Given the description of an element on the screen output the (x, y) to click on. 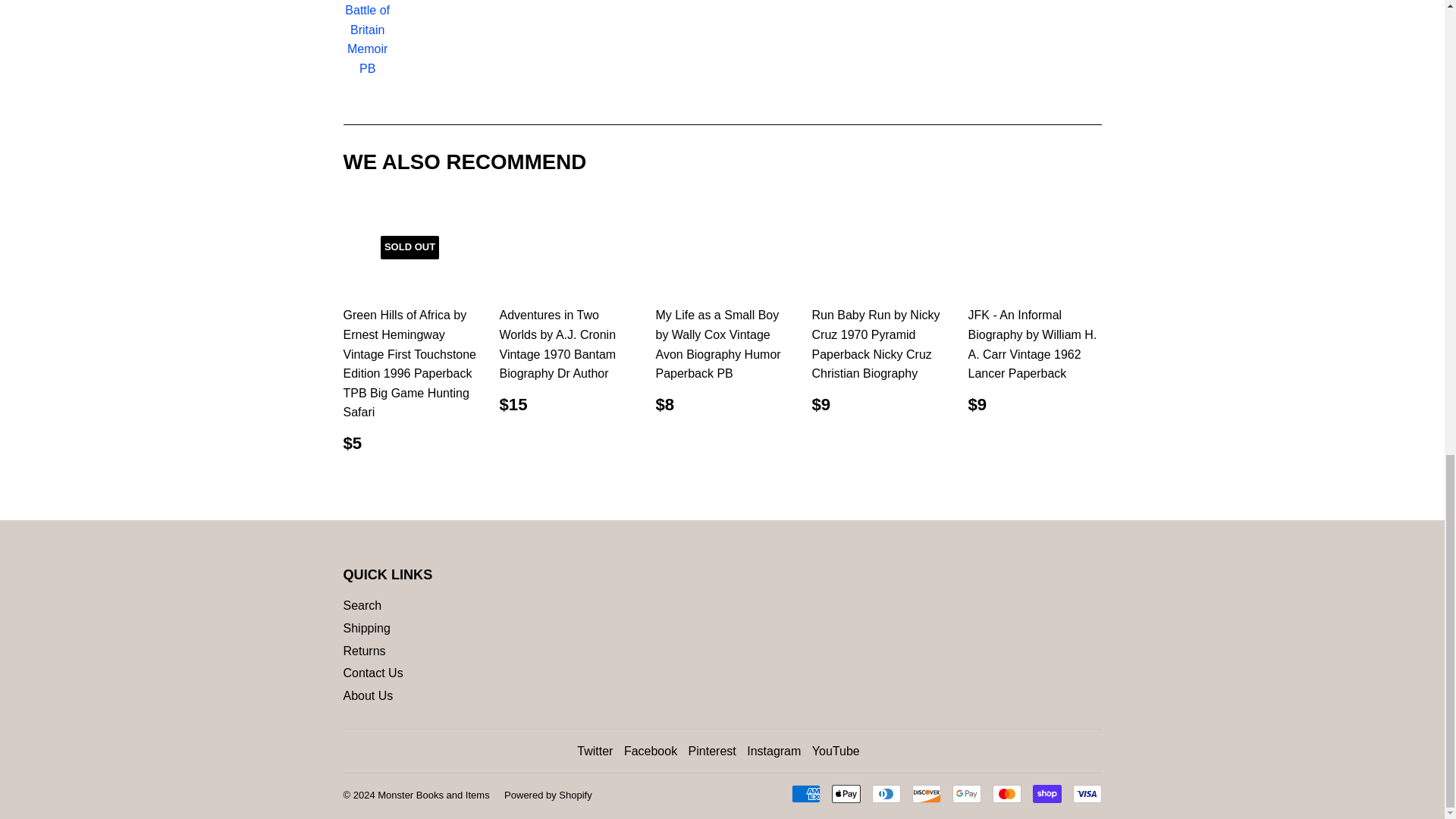
Monster Books and Items on YouTube (836, 750)
Monster Books and Items on Facebook (650, 750)
Diners Club (886, 793)
American Express (806, 793)
Shop Pay (1046, 793)
Monster Books and Items on Instagram (773, 750)
Google Pay (966, 793)
Monster Books and Items on Twitter (594, 750)
Monster Books and Items on Pinterest (712, 750)
Mastercard (1005, 793)
